Given the description of an element on the screen output the (x, y) to click on. 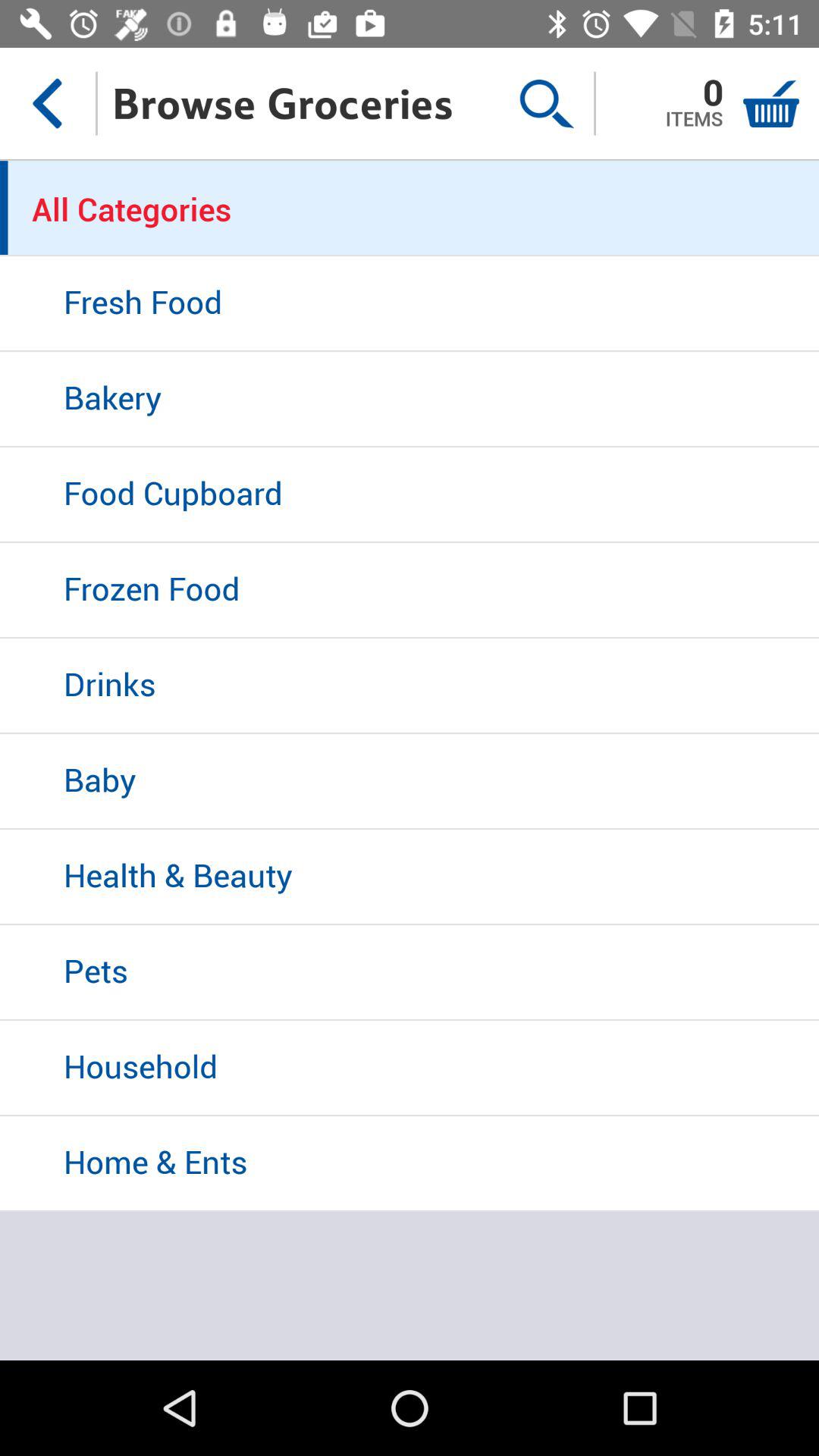
jump until baby (409, 781)
